Given the description of an element on the screen output the (x, y) to click on. 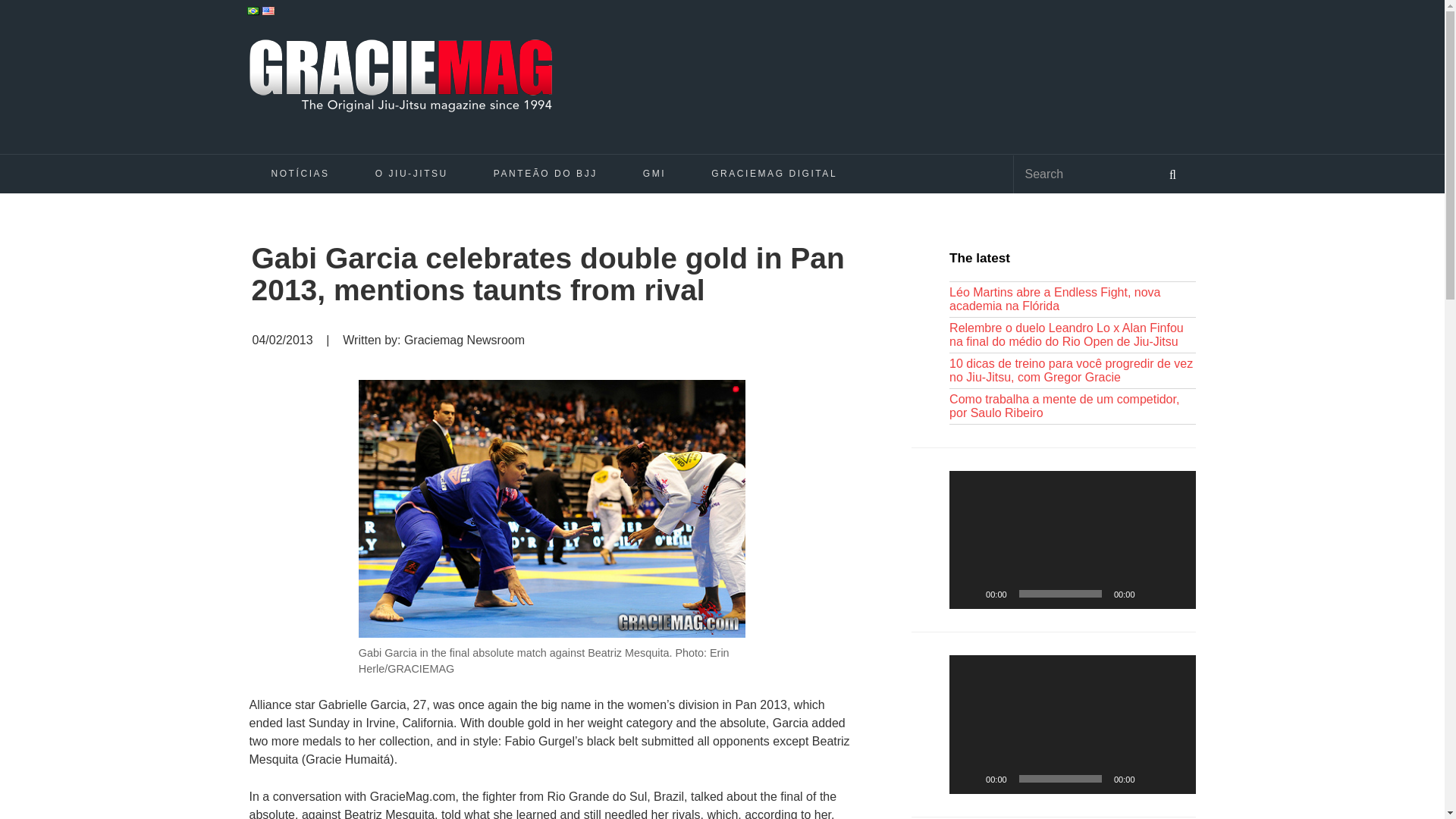
Fullscreen (1174, 593)
Mute (1150, 593)
GRACIEMAG DIGITAL (774, 173)
Play (968, 593)
Search (1081, 174)
Gabi-Garcia (551, 509)
Search (1172, 173)
O JIU-JITSU (411, 173)
GMI (654, 173)
Search (1081, 174)
